Given the description of an element on the screen output the (x, y) to click on. 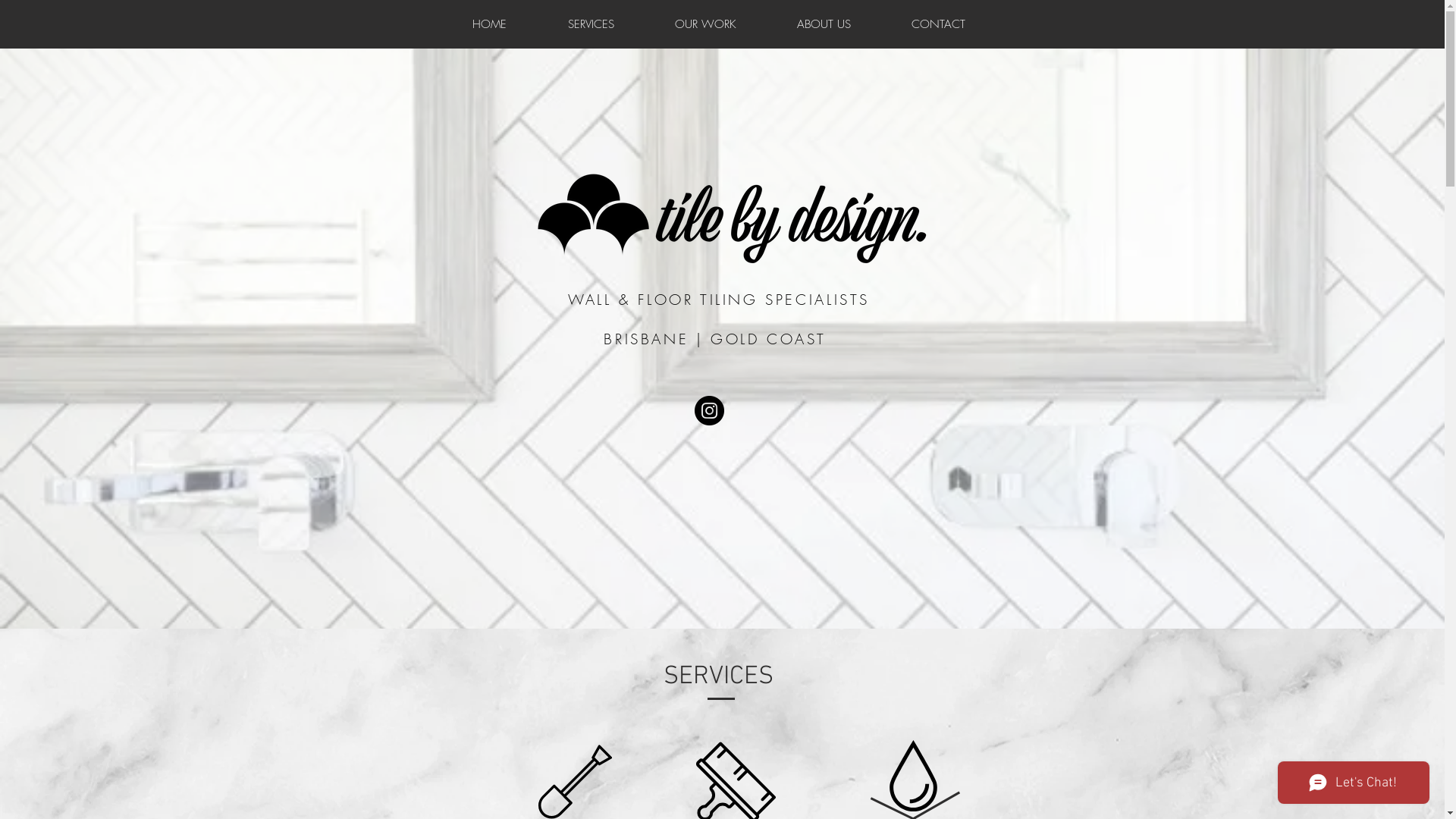
SERVICES Element type: text (589, 24)
CONTACT Element type: text (938, 24)
ABOUT US Element type: text (822, 24)
OUR WORK Element type: text (705, 24)
HOME Element type: text (488, 24)
